Given the description of an element on the screen output the (x, y) to click on. 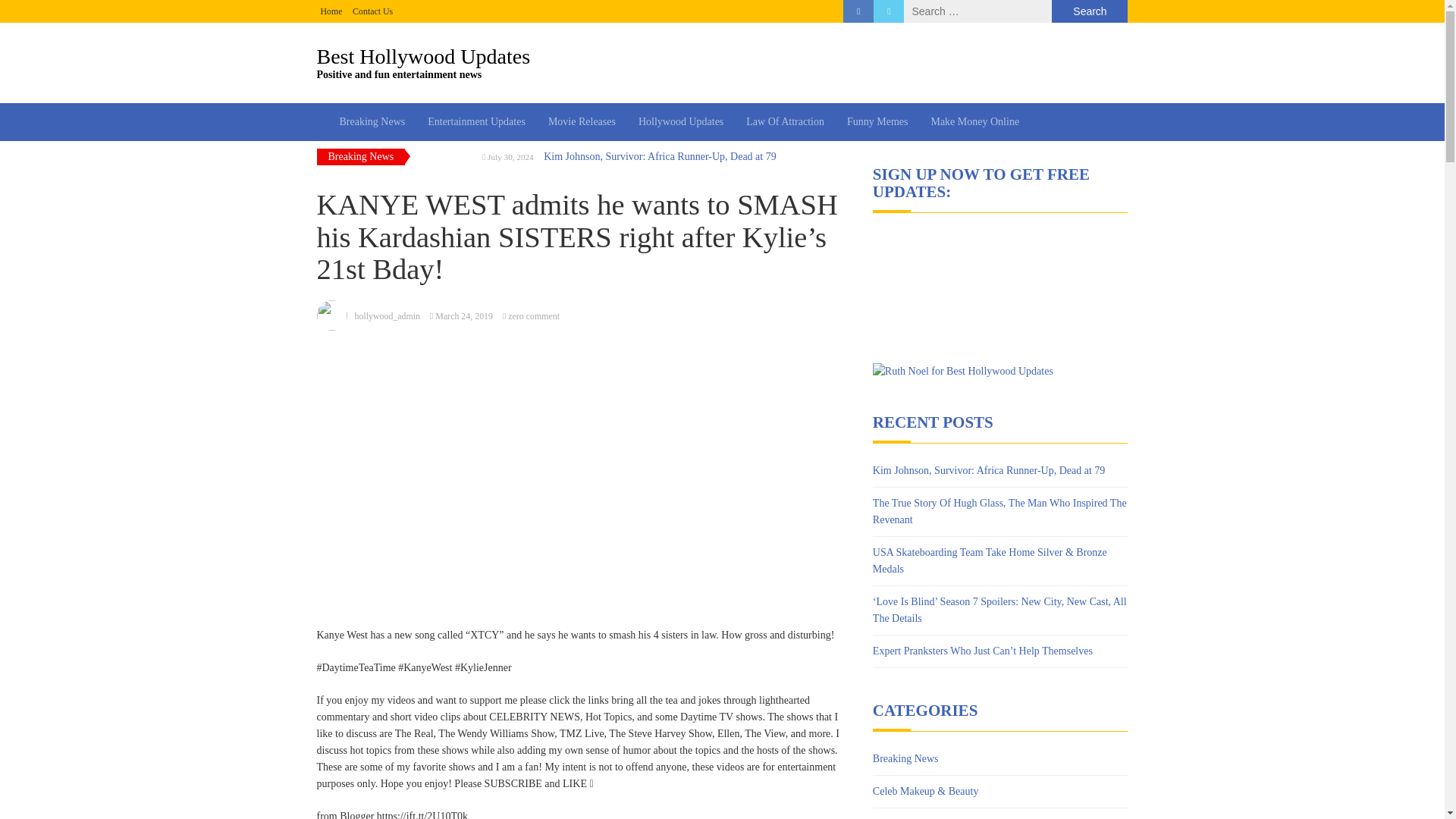
Funny Memes (877, 121)
Movie Releases (582, 121)
Breaking News (905, 759)
Search (1088, 11)
Kim Johnson, Survivor: Africa Runner-Up, Dead at 79 (988, 470)
Home (331, 10)
Hollywood Updates (681, 121)
Home (331, 10)
Contact Us (372, 10)
Make Money Online (974, 121)
Search (1088, 11)
Law Of Attraction (785, 121)
Breaking News (722, 62)
Breaking News (371, 121)
